Given the description of an element on the screen output the (x, y) to click on. 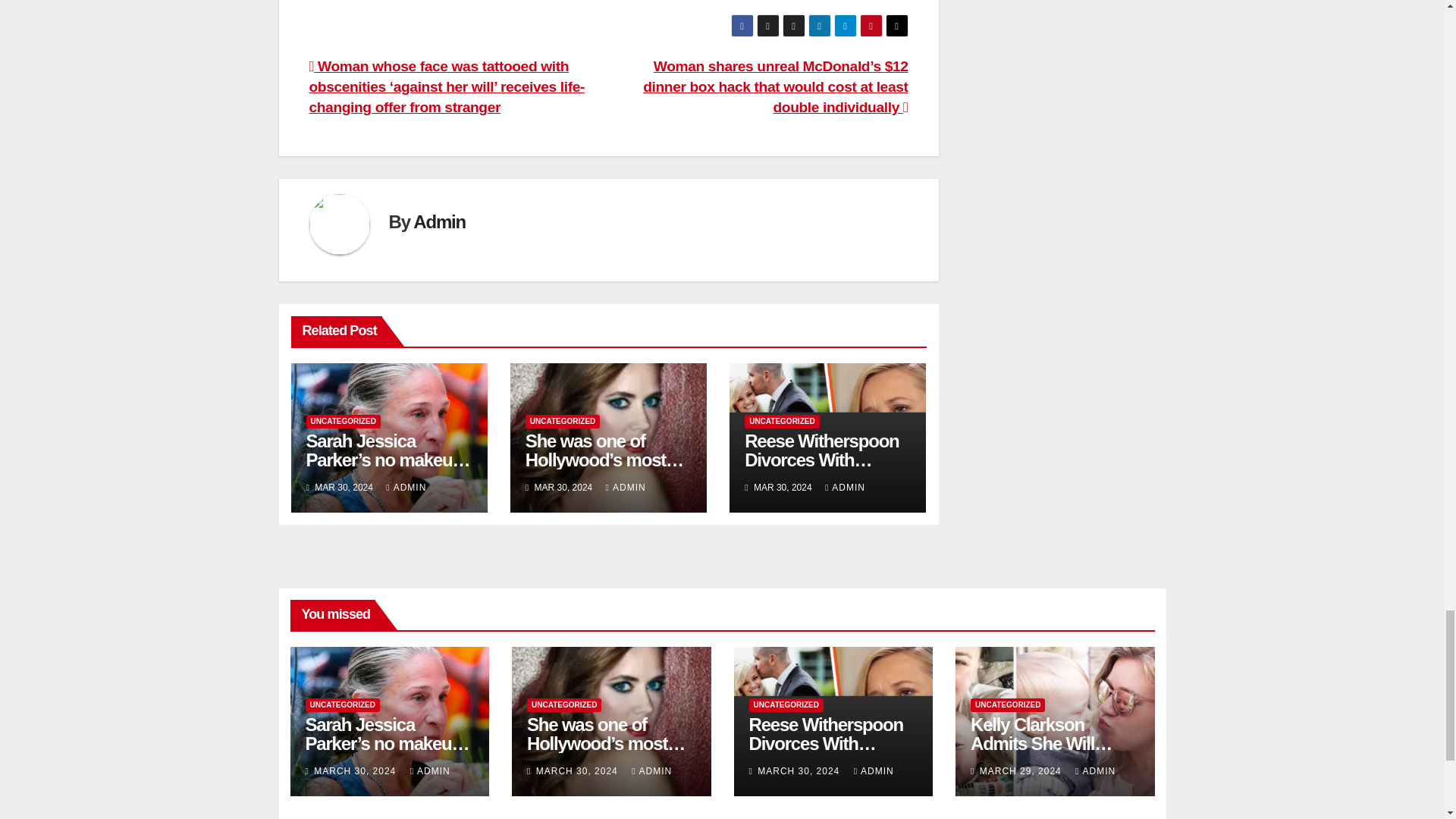
Admin (439, 221)
UNCATEGORIZED (342, 421)
